Given the description of an element on the screen output the (x, y) to click on. 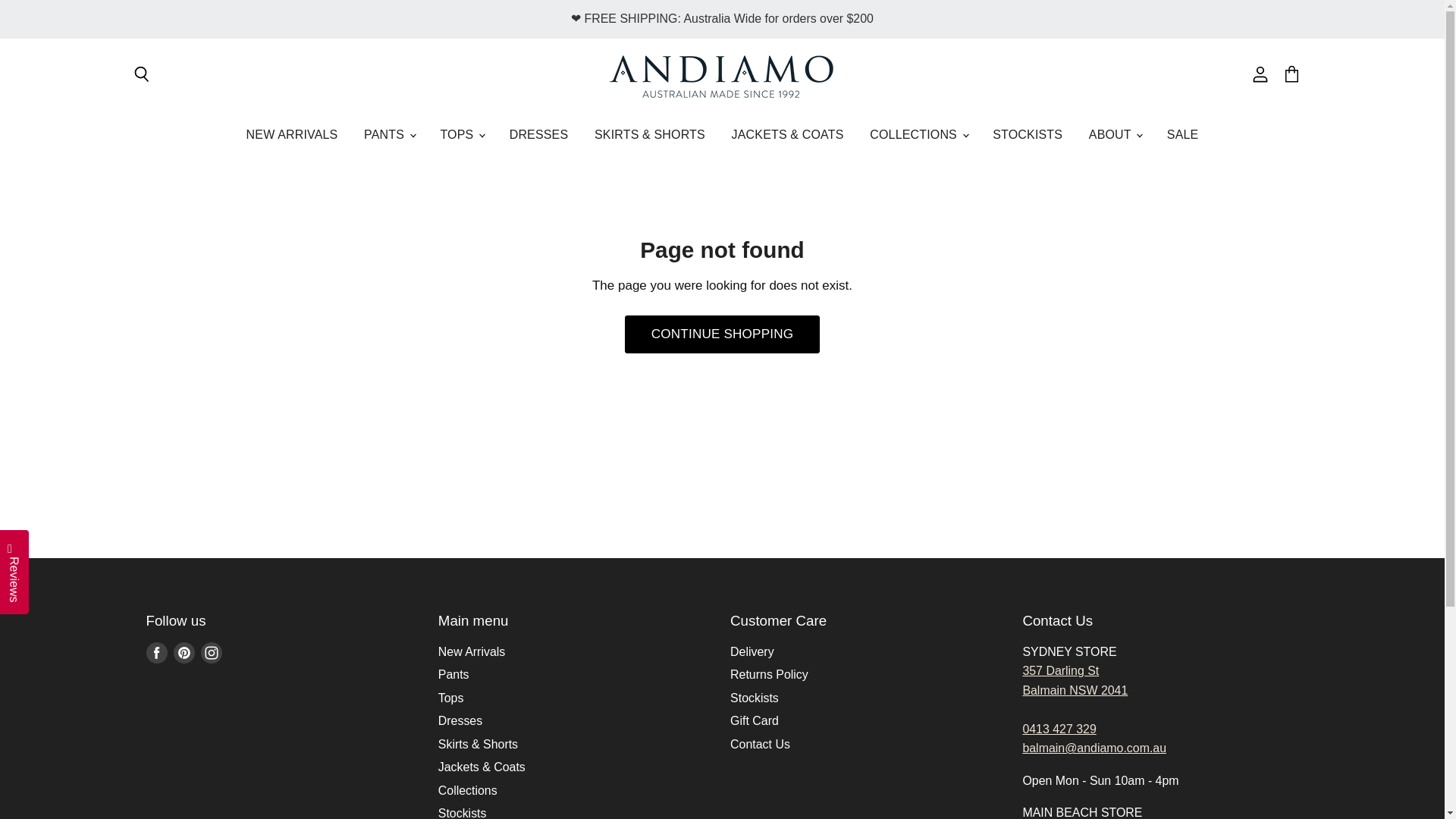
NEW ARRIVALS (291, 133)
TOPS (461, 133)
Pinterest (183, 652)
ABOUT (1114, 133)
PANTS (388, 133)
COLLECTIONS (917, 133)
Get Directions (1074, 680)
STOCKISTS (1027, 133)
Instagram (210, 652)
View account (1259, 74)
Facebook (156, 652)
DRESSES (538, 133)
Search (140, 74)
